Given the description of an element on the screen output the (x, y) to click on. 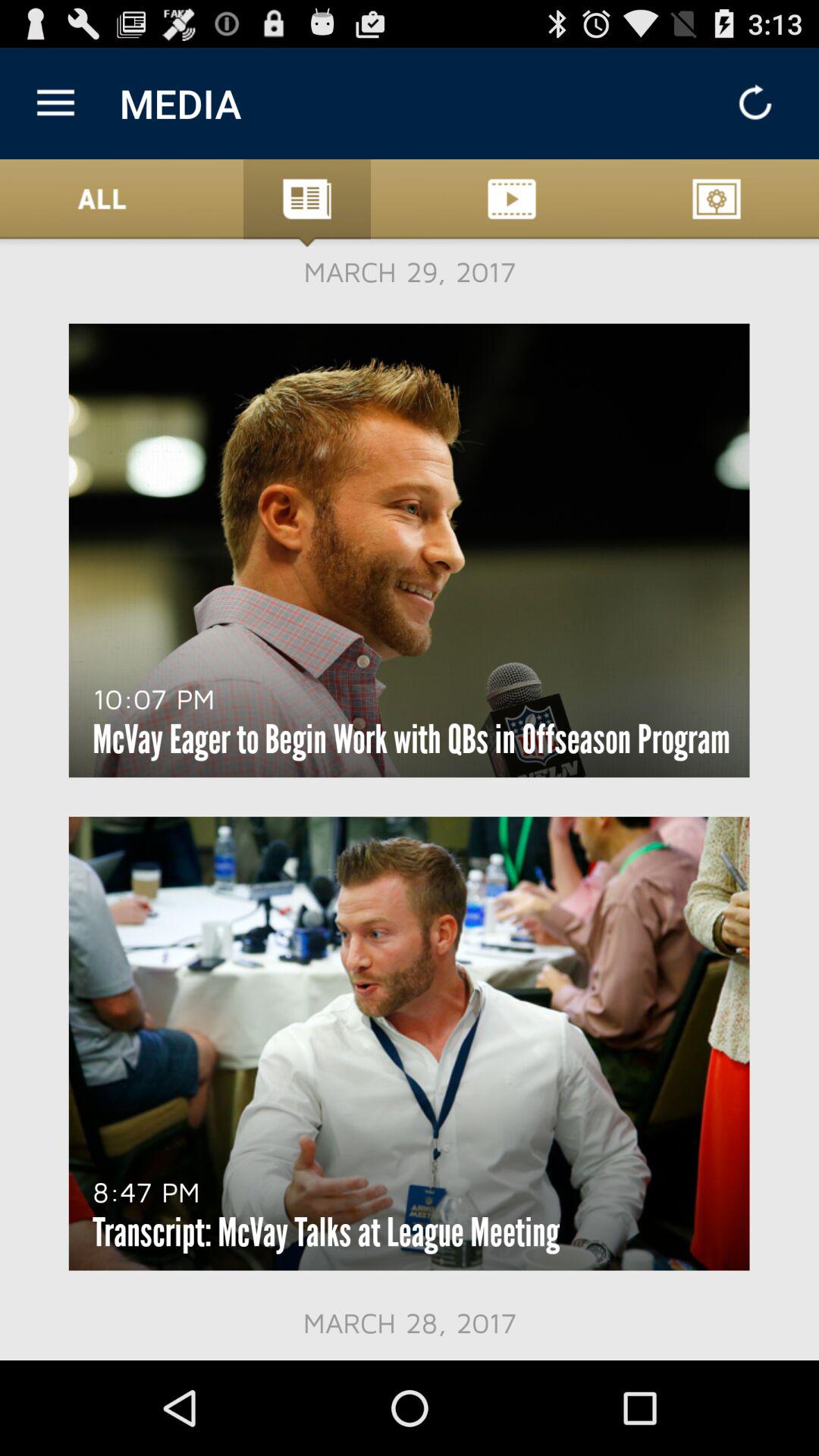
launch the 8:47 pm item (146, 1191)
